Given the description of an element on the screen output the (x, y) to click on. 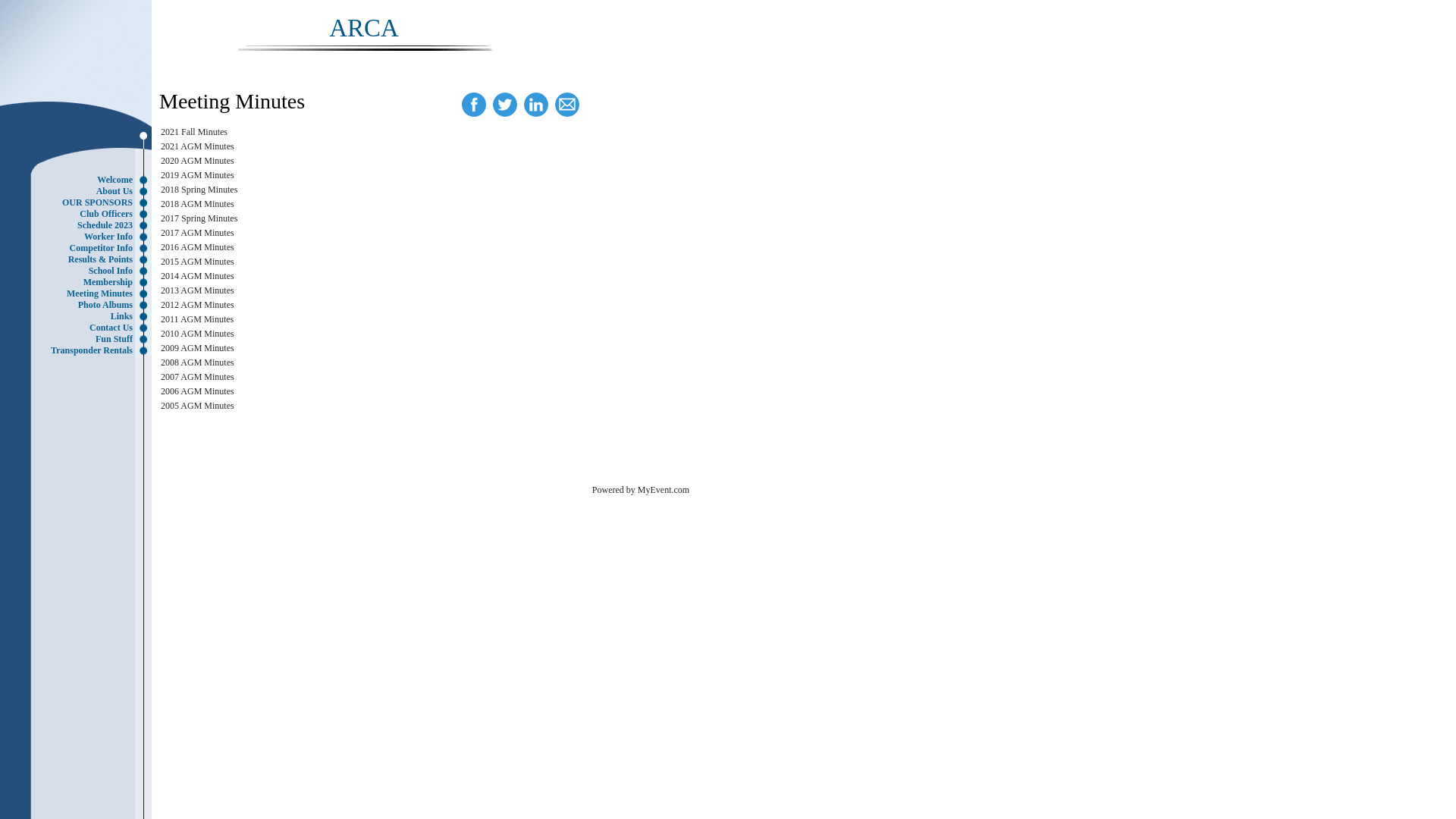
2013 AGM Minutes Element type: text (197, 290)
2015 AGM Minutes Element type: text (197, 261)
2011 AGM Minutes Element type: text (196, 318)
Powered by MyEvent.com Element type: text (640, 489)
Results & Points Element type: text (79, 259)
2005 AGM Minutes Element type: text (197, 405)
2017 AGM Minutes Element type: text (197, 232)
2021 Fall Minutes Element type: text (193, 131)
2018 AGM Minutes Element type: text (197, 203)
2020 AGM Minutes Element type: text (197, 160)
Welcome Element type: text (79, 179)
2021 AGM Minutes Element type: text (197, 146)
School Info Element type: text (79, 270)
About Us Element type: text (79, 191)
OUR SPONSORS Element type: text (79, 202)
Worker Info Element type: text (79, 236)
Photo Albums Element type: text (79, 304)
2016 AGM Minutes Element type: text (197, 246)
2008 AGM Minutes Element type: text (197, 362)
2007 AGM Minutes Element type: text (197, 376)
Transponder Rentals Element type: text (79, 350)
Schedule 2023 Element type: text (79, 225)
Meeting Minutes Element type: text (79, 293)
Links Element type: text (79, 316)
2012 AGM Minutes Element type: text (197, 304)
Fun Stuff Element type: text (79, 339)
Competitor Info Element type: text (79, 248)
Club Officers Element type: text (79, 213)
Contact Us Element type: text (79, 327)
2019 AGM Minutes Element type: text (197, 174)
2017 Spring Minutes Element type: text (198, 218)
2018 Spring Minutes Element type: text (198, 189)
2014 AGM Minutes Element type: text (197, 275)
2009 AGM Minutes Element type: text (197, 347)
Membership Element type: text (79, 282)
2010 AGM Minutes Element type: text (197, 333)
2006 AGM Minutes Element type: text (197, 390)
